Given the description of an element on the screen output the (x, y) to click on. 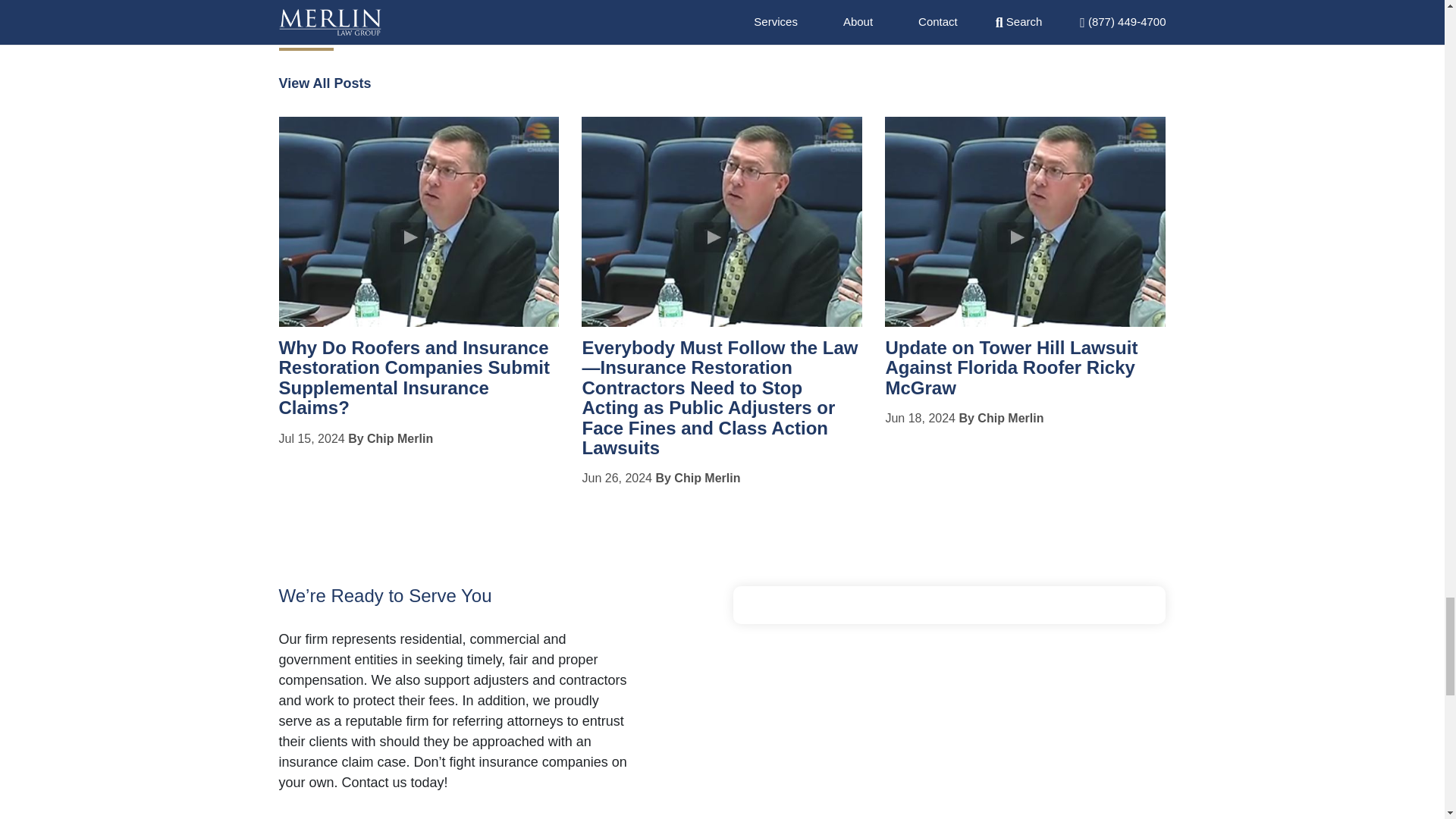
View All Posts (325, 83)
By Chip Merlin (697, 477)
By Chip Merlin (389, 438)
